Given the description of an element on the screen output the (x, y) to click on. 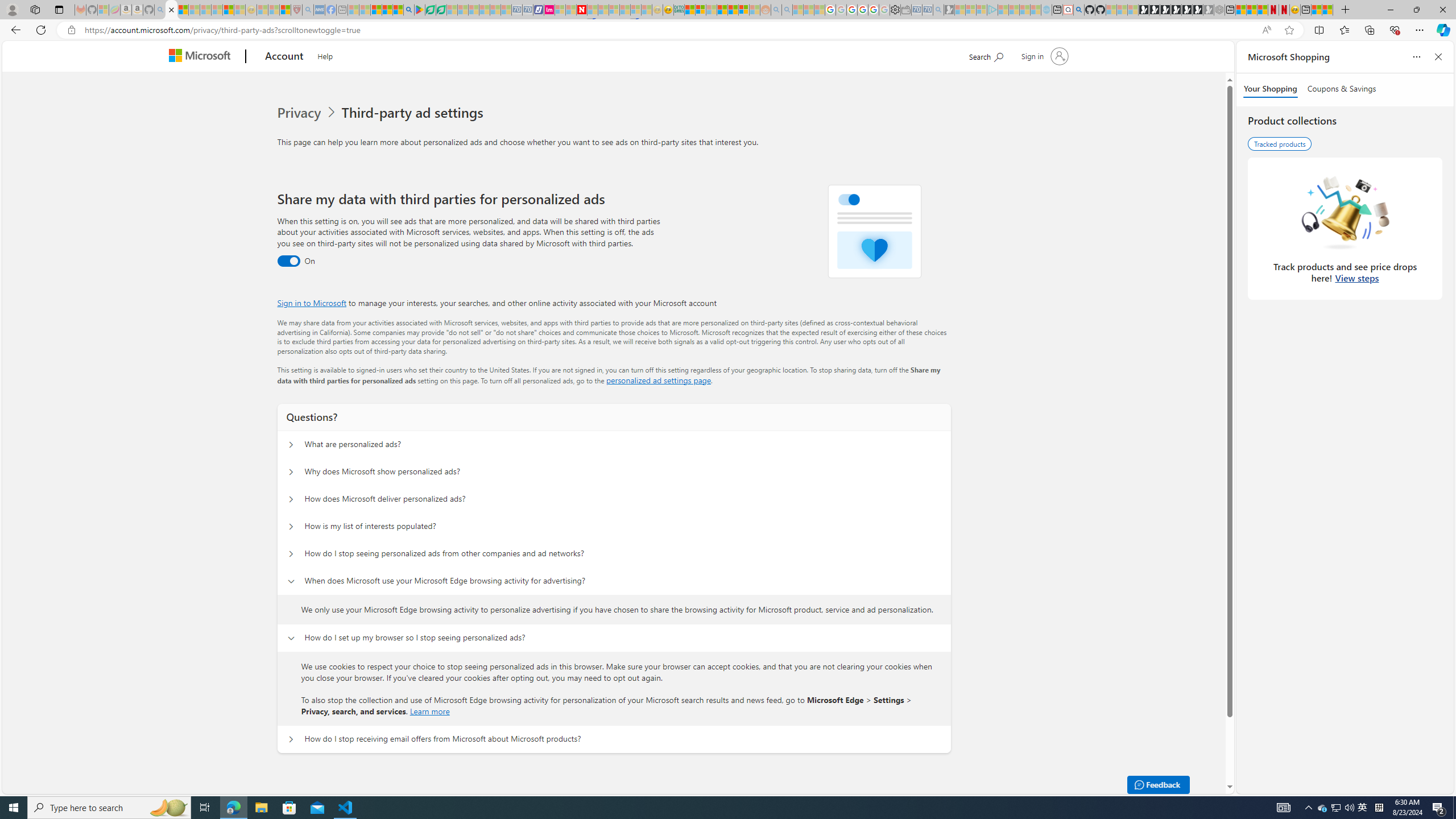
DITOGAMES AG Imprint (678, 9)
Expert Portfolios (721, 9)
personalized ad settings page (658, 379)
